Given the description of an element on the screen output the (x, y) to click on. 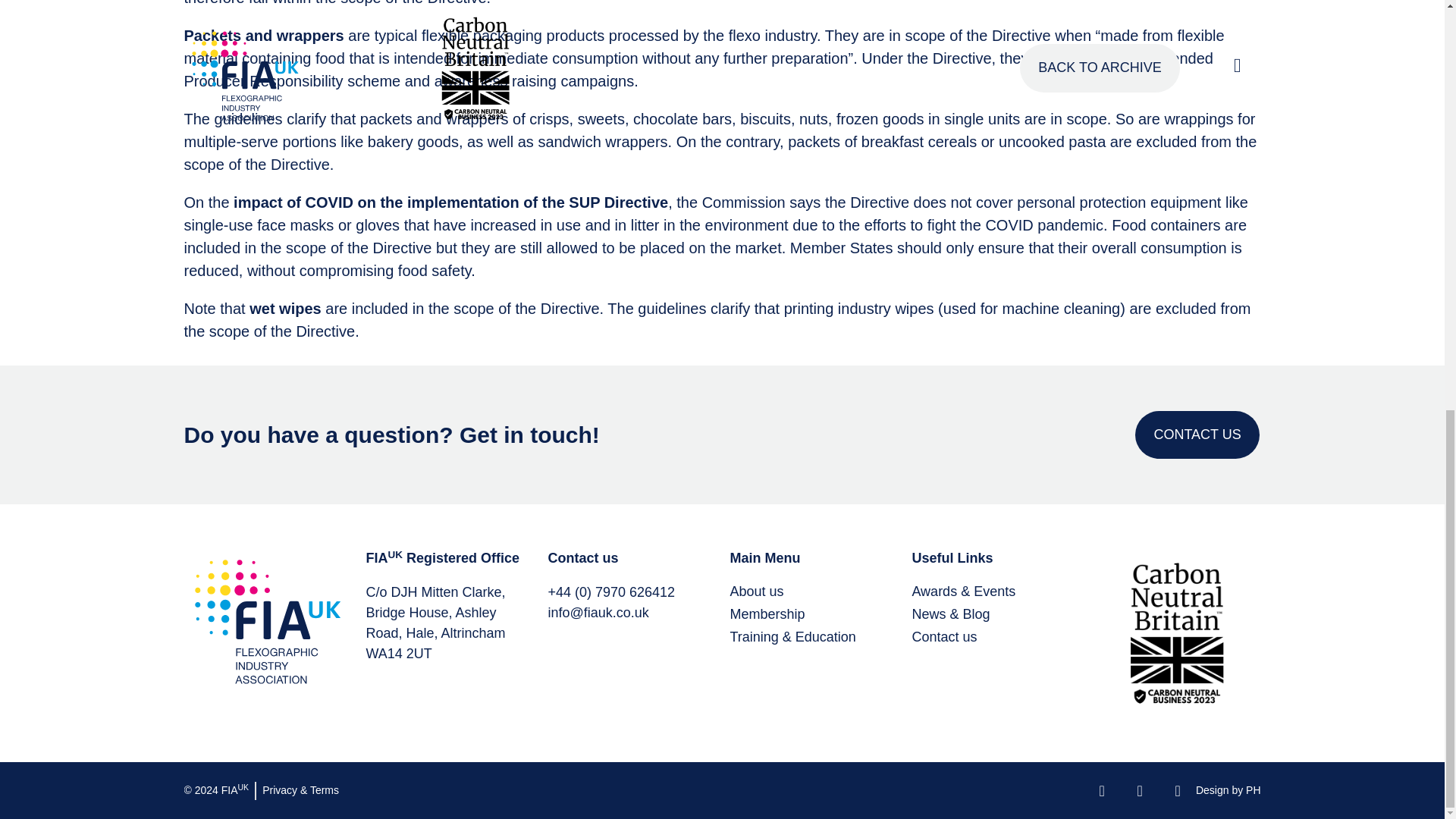
CONTACT US (1197, 434)
Design by PH (1227, 789)
Membership (812, 614)
Contact us (994, 637)
About us (812, 591)
